Given the description of an element on the screen output the (x, y) to click on. 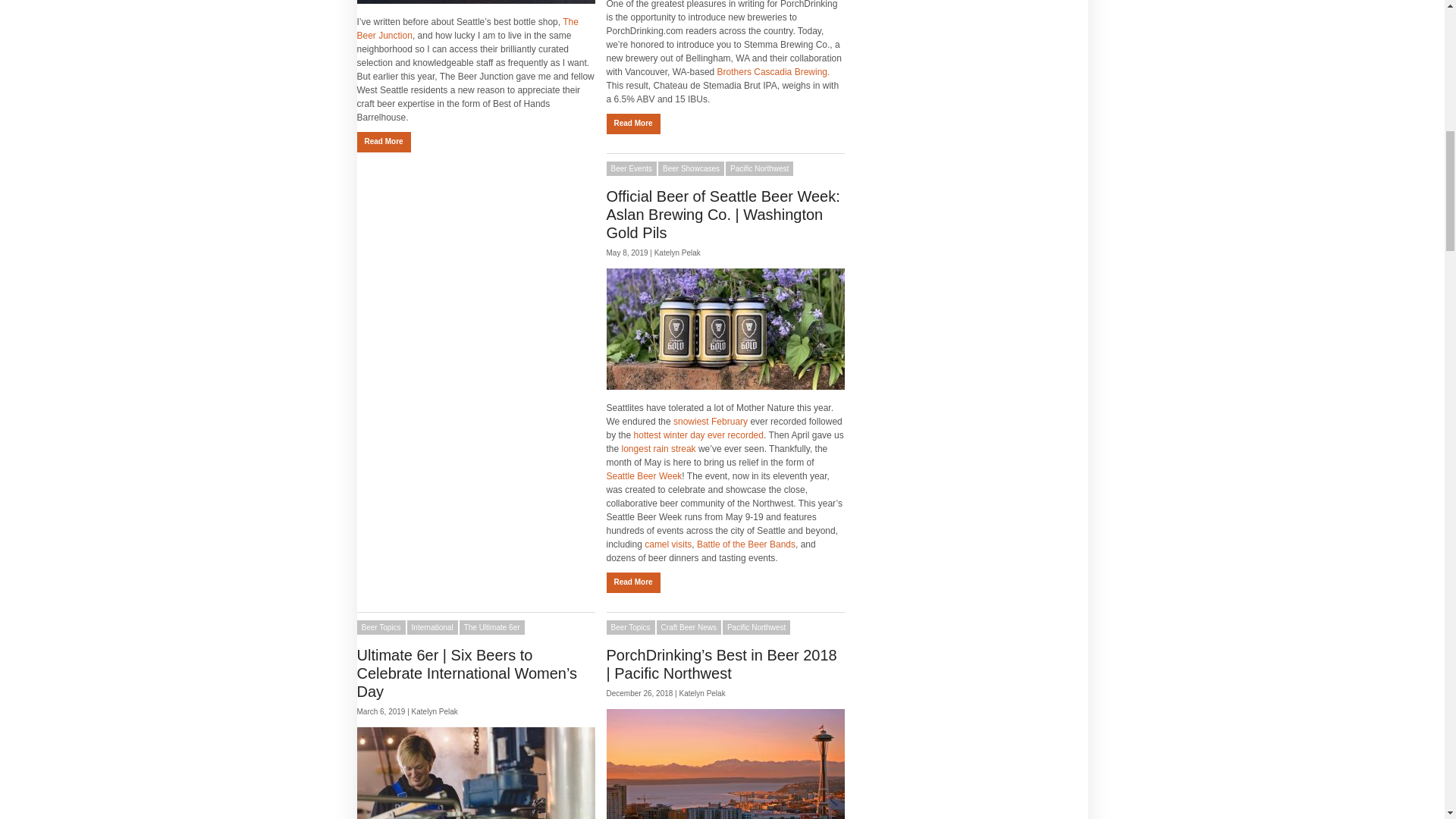
Posts by Katelyn Pelak (676, 252)
Posts by Katelyn Pelak (435, 711)
Posts by Katelyn Pelak (702, 693)
